Given the description of an element on the screen output the (x, y) to click on. 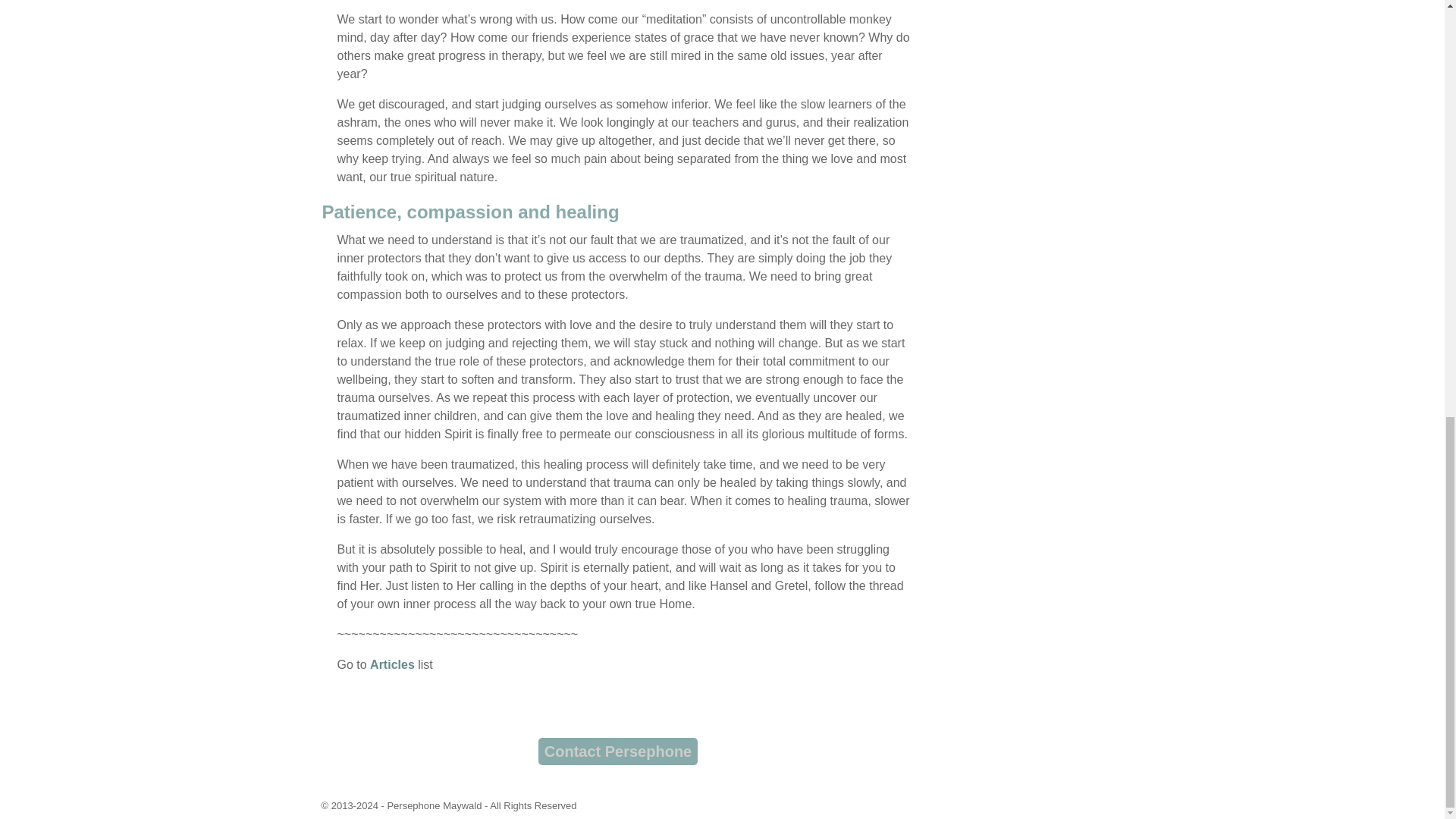
Articles  (393, 664)
Contact Persephone (617, 751)
